Given the description of an element on the screen output the (x, y) to click on. 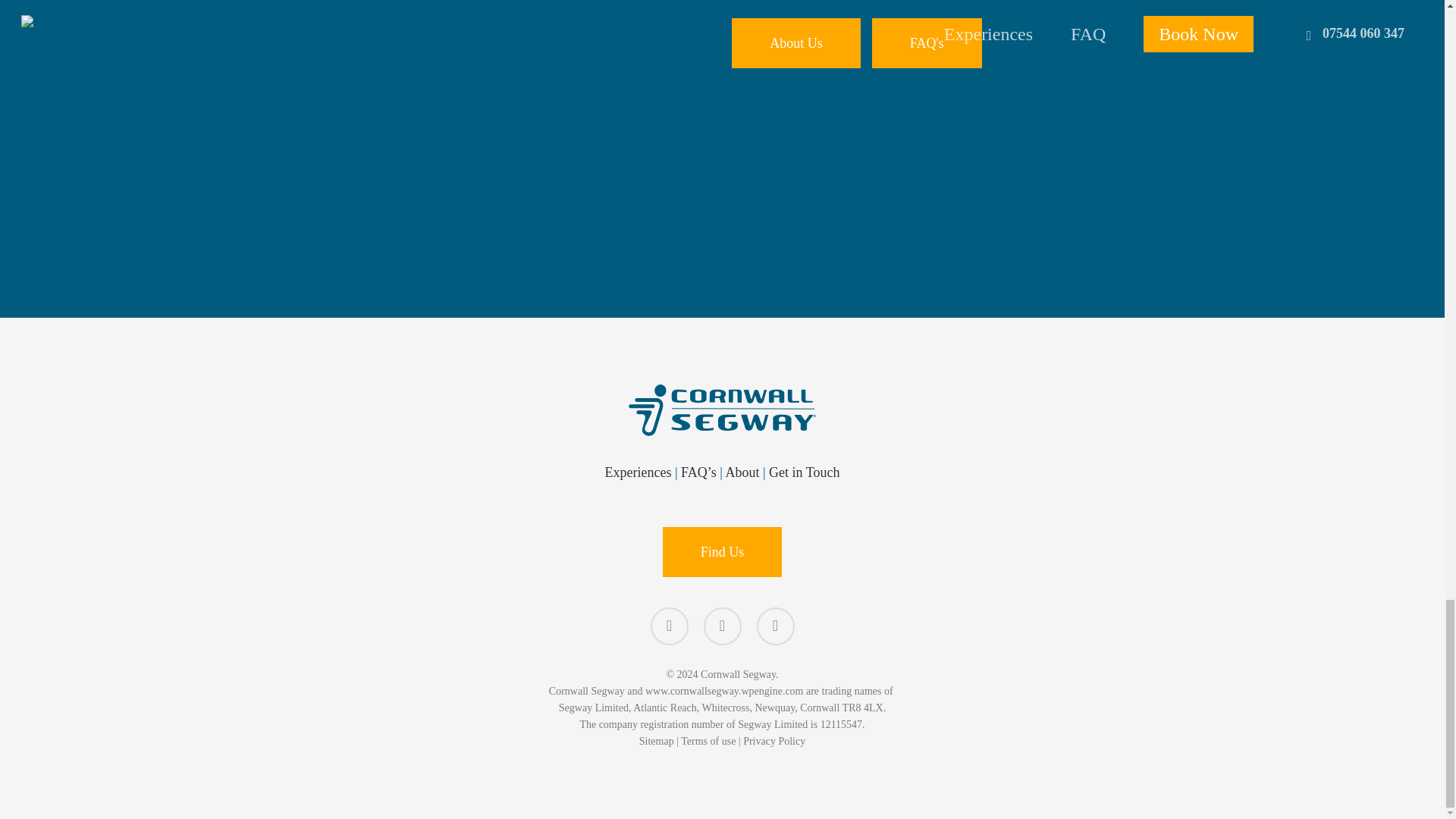
Privacy Policy (773, 740)
facebook (669, 626)
About Us (796, 42)
Sitemap (656, 740)
Find Us (722, 552)
FAQ's (926, 42)
Get in Touch (804, 472)
About (741, 472)
Experiences (638, 472)
Terms of use (708, 740)
